Given the description of an element on the screen output the (x, y) to click on. 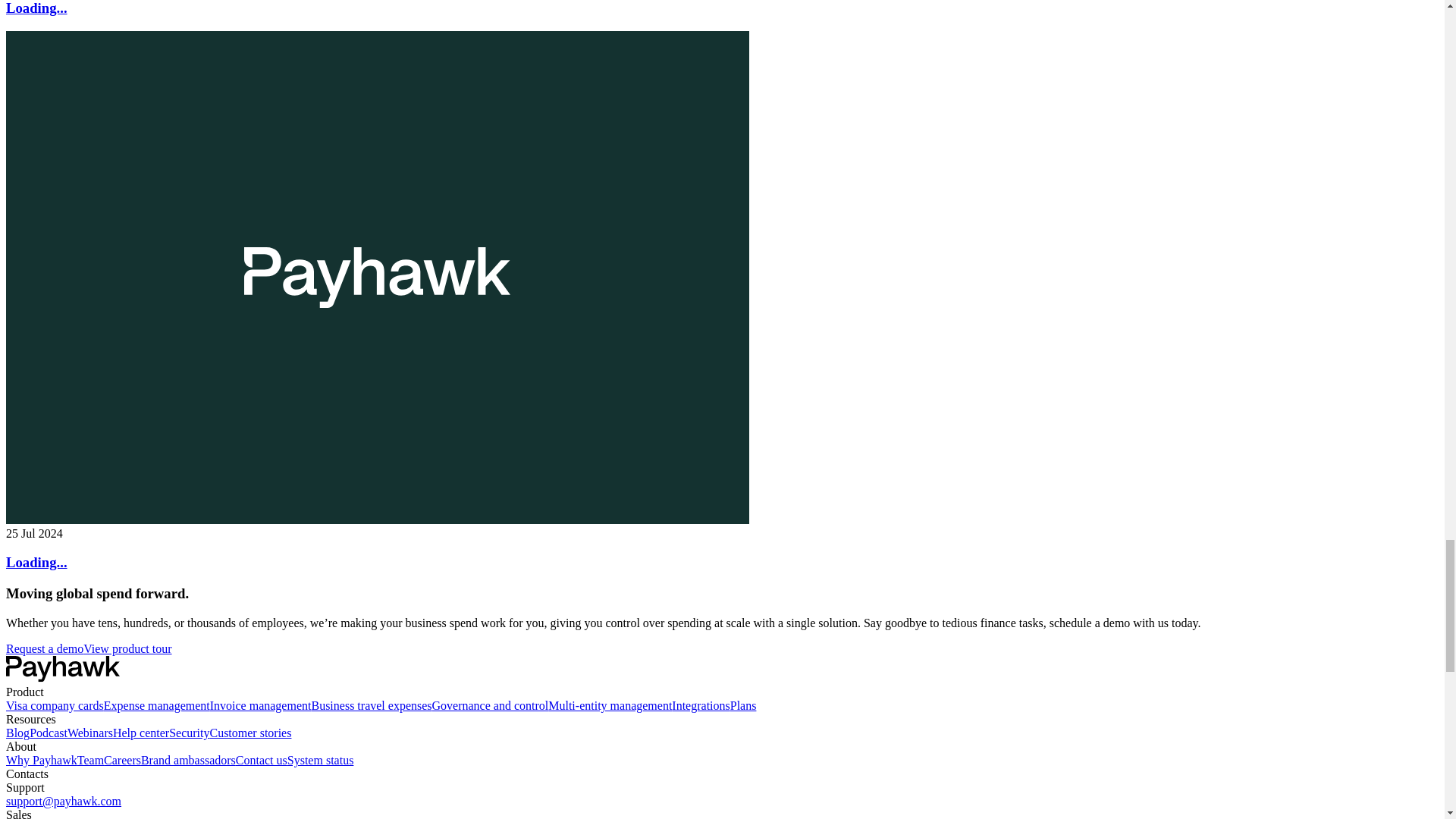
PayhawkHeader.js (62, 669)
